Given the description of an element on the screen output the (x, y) to click on. 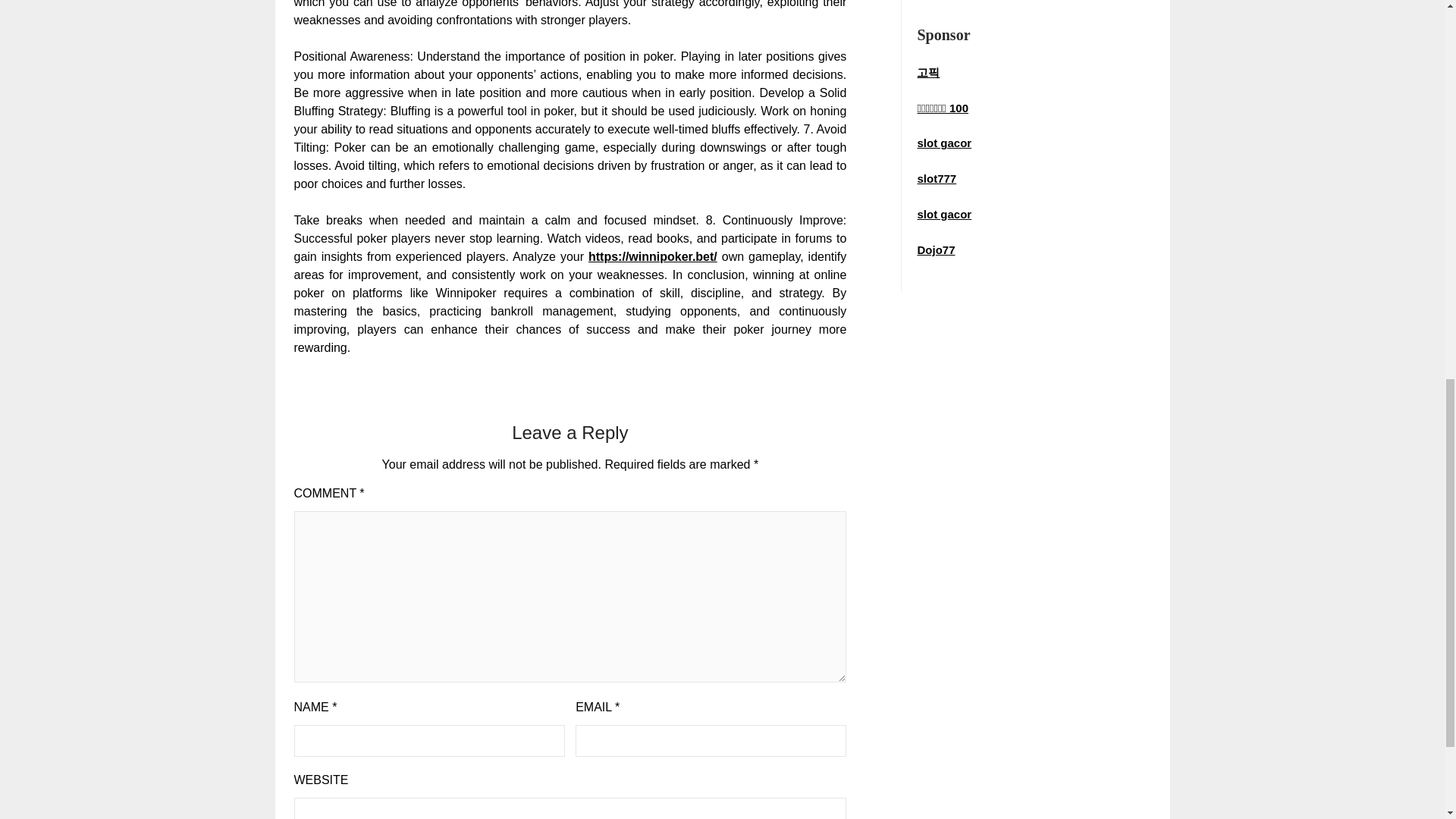
slot gacor (944, 214)
slot gacor (944, 142)
Dojo77 (936, 249)
slot777 (936, 178)
